Given the description of an element on the screen output the (x, y) to click on. 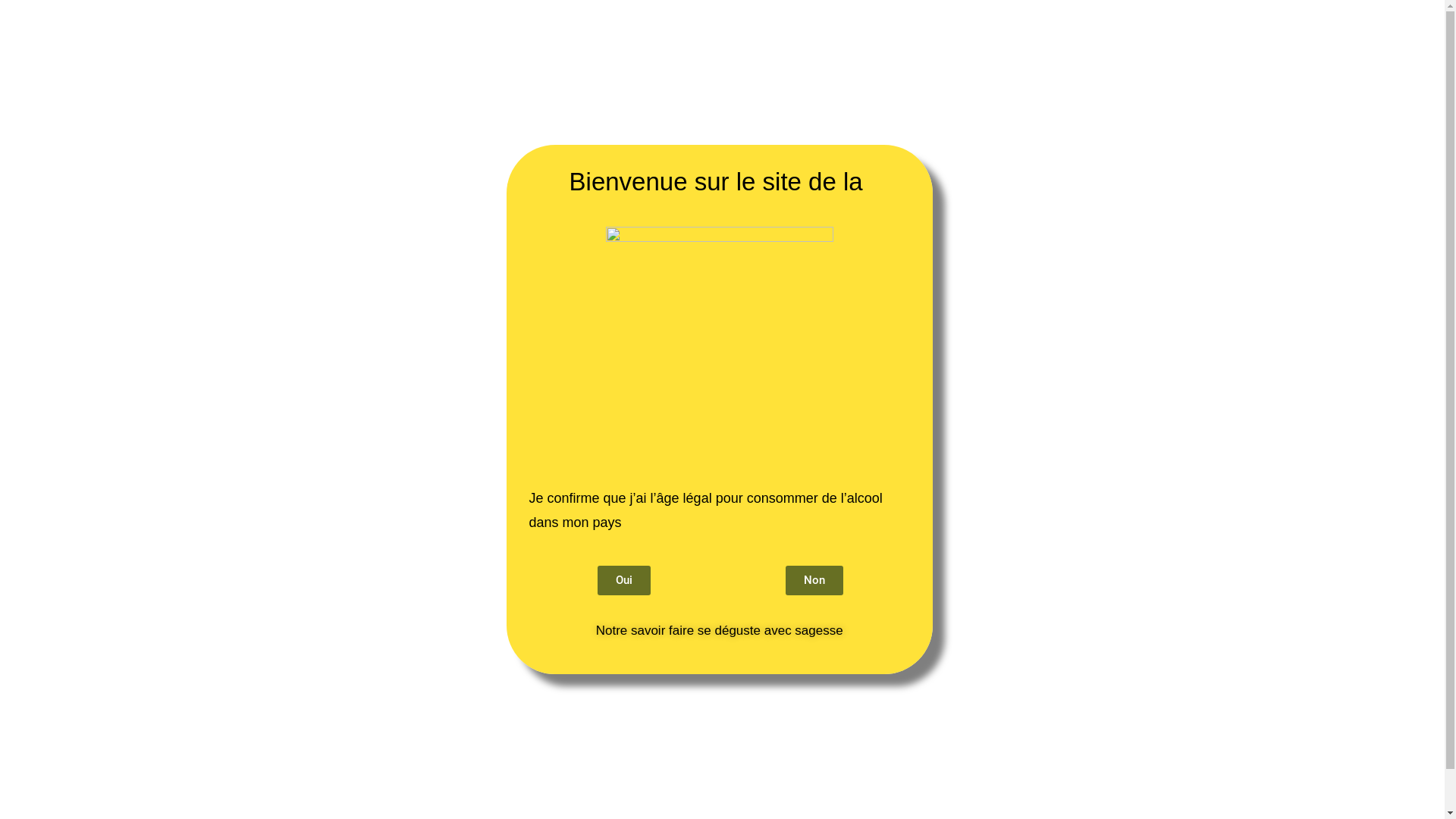
Oui Element type: text (623, 580)
Non Element type: text (814, 580)
